Given the description of an element on the screen output the (x, y) to click on. 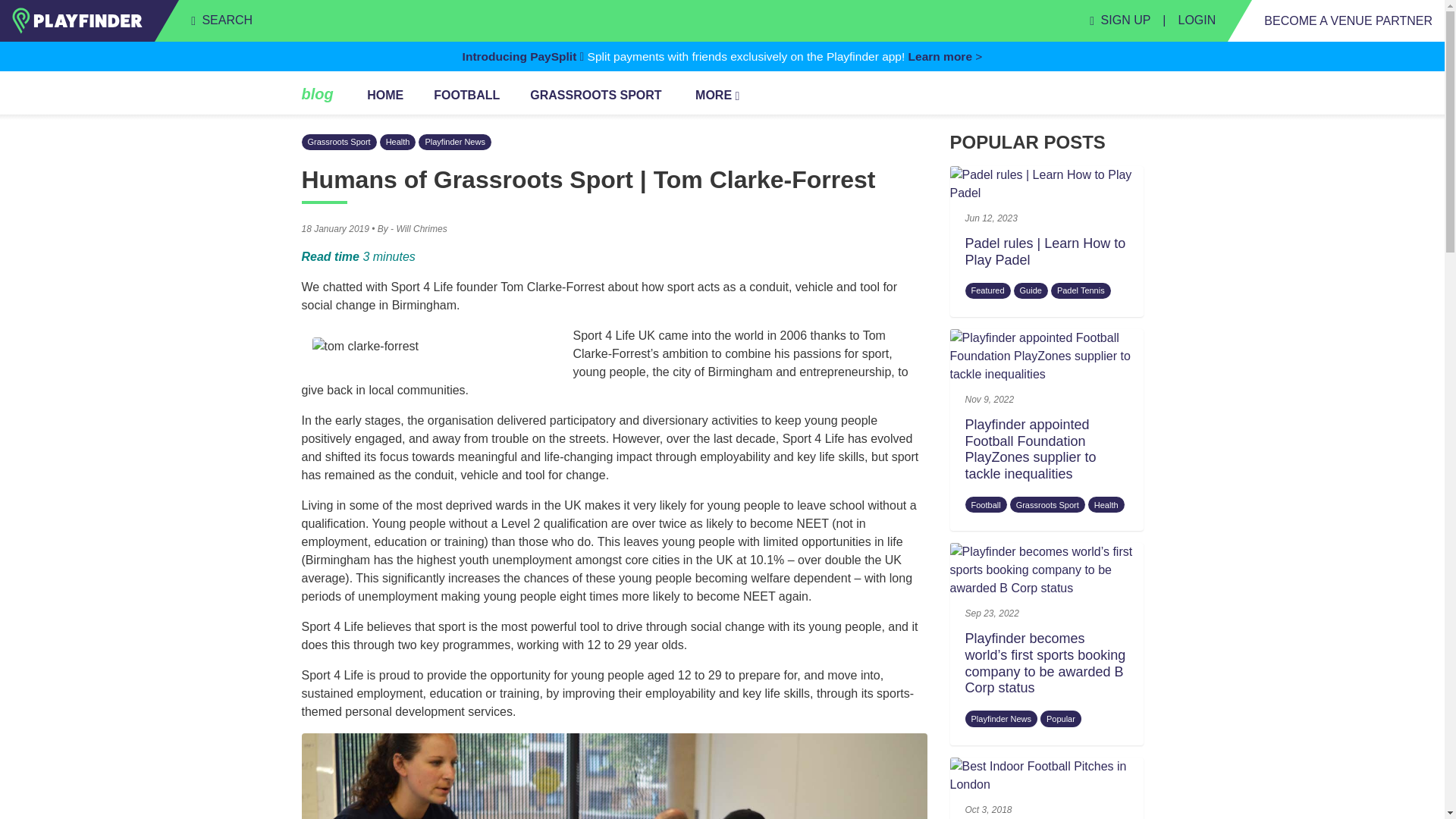
Featured (986, 290)
LOGIN (1196, 20)
BECOME A VENUE PARTNER (1347, 19)
SEARCH (220, 20)
Grassroots Sport (1047, 504)
SIGN UP (1119, 20)
Grassroots Sport (339, 141)
MORE (717, 94)
GRASSROOTS SPORT (595, 95)
